Given the description of an element on the screen output the (x, y) to click on. 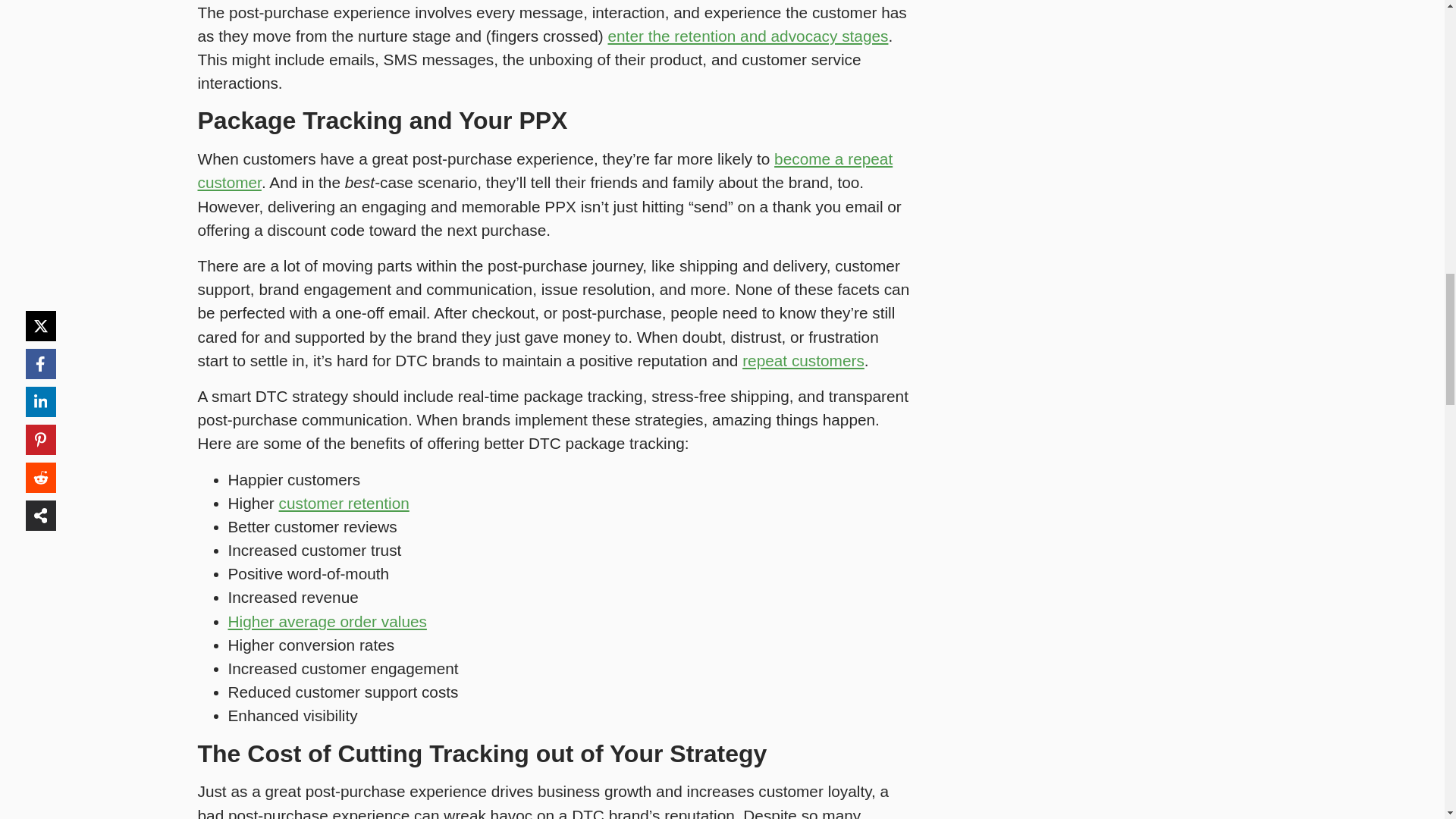
Retention.com (344, 502)
ReCharge Payments (803, 360)
ReCharge Payments (326, 620)
